Given the description of an element on the screen output the (x, y) to click on. 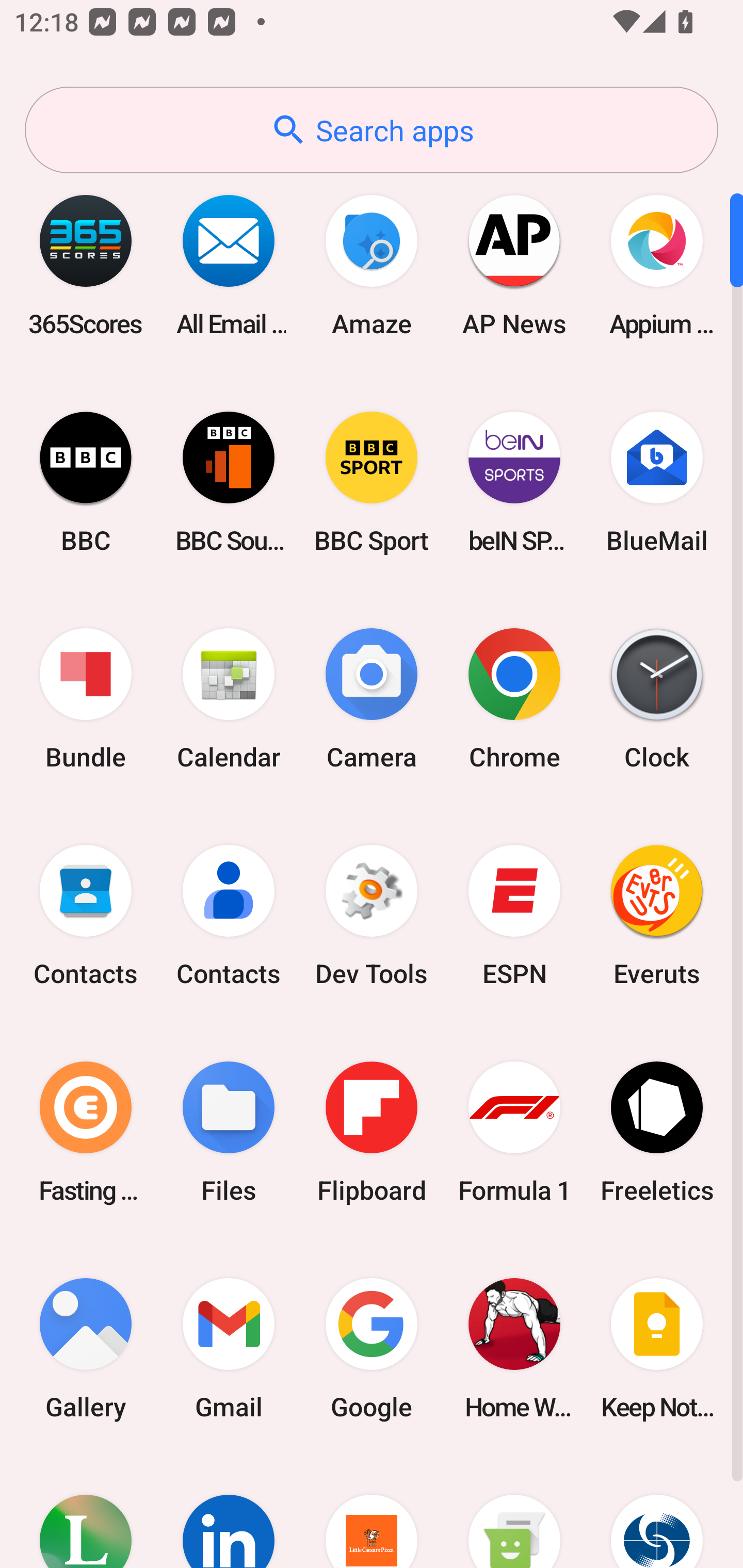
  Search apps (371, 130)
365Scores (85, 264)
All Email Connect (228, 264)
Amaze (371, 264)
AP News (514, 264)
Appium Settings (656, 264)
BBC (85, 482)
BBC Sounds (228, 482)
BBC Sport (371, 482)
beIN SPORTS (514, 482)
BlueMail (656, 482)
Bundle (85, 699)
Calendar (228, 699)
Camera (371, 699)
Chrome (514, 699)
Clock (656, 699)
Contacts (85, 915)
Contacts (228, 915)
Dev Tools (371, 915)
ESPN (514, 915)
Everuts (656, 915)
Fasting Coach (85, 1131)
Files (228, 1131)
Flipboard (371, 1131)
Formula 1 (514, 1131)
Freeletics (656, 1131)
Gallery (85, 1348)
Gmail (228, 1348)
Google (371, 1348)
Home Workout (514, 1348)
Keep Notes (656, 1348)
Lifesum (85, 1512)
LinkedIn (228, 1512)
Little Caesars Pizza (371, 1512)
Messaging (514, 1512)
MyObservatory (656, 1512)
